Given the description of an element on the screen output the (x, y) to click on. 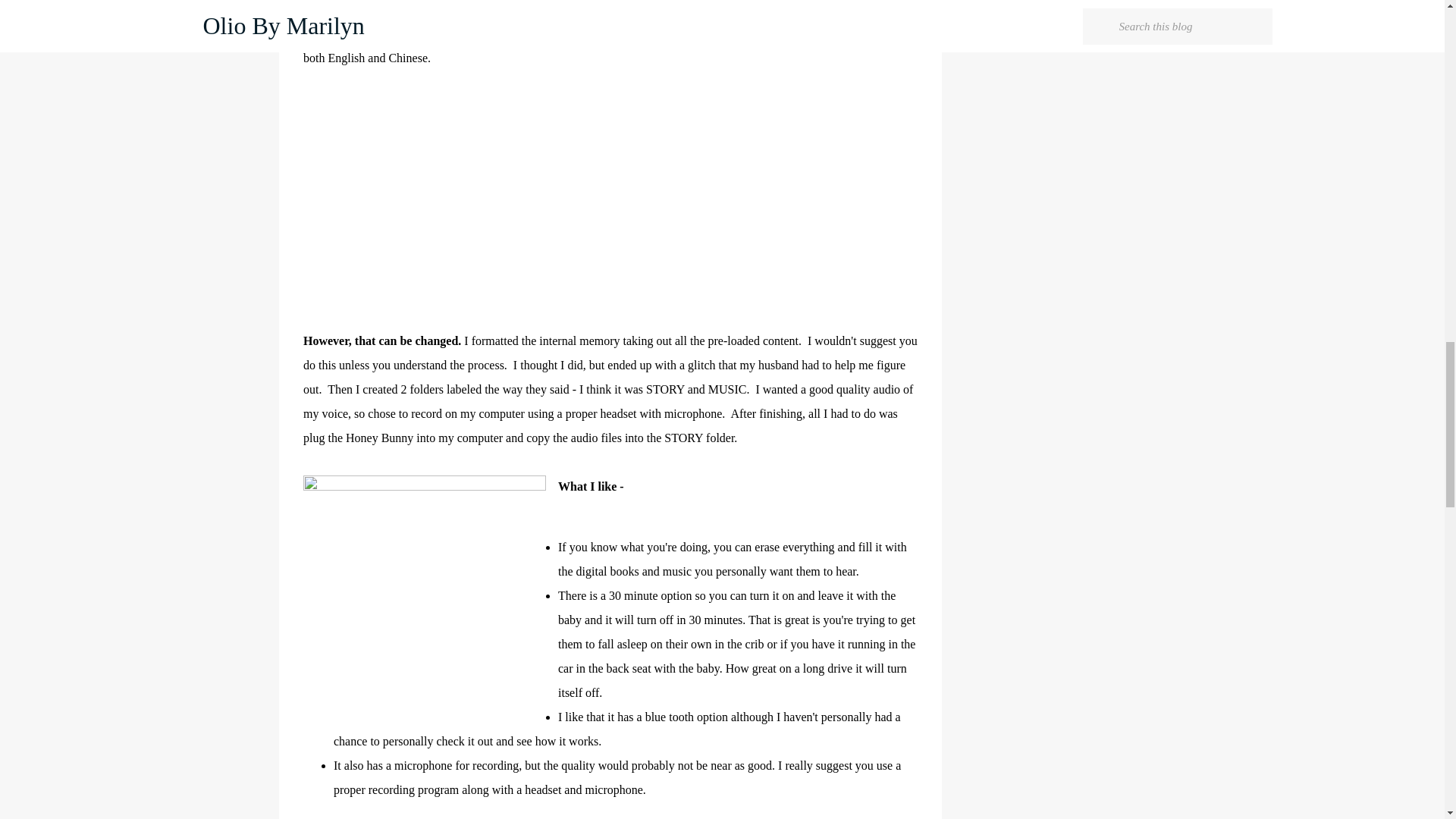
Alilo Honey Bunny (773, 9)
